Given the description of an element on the screen output the (x, y) to click on. 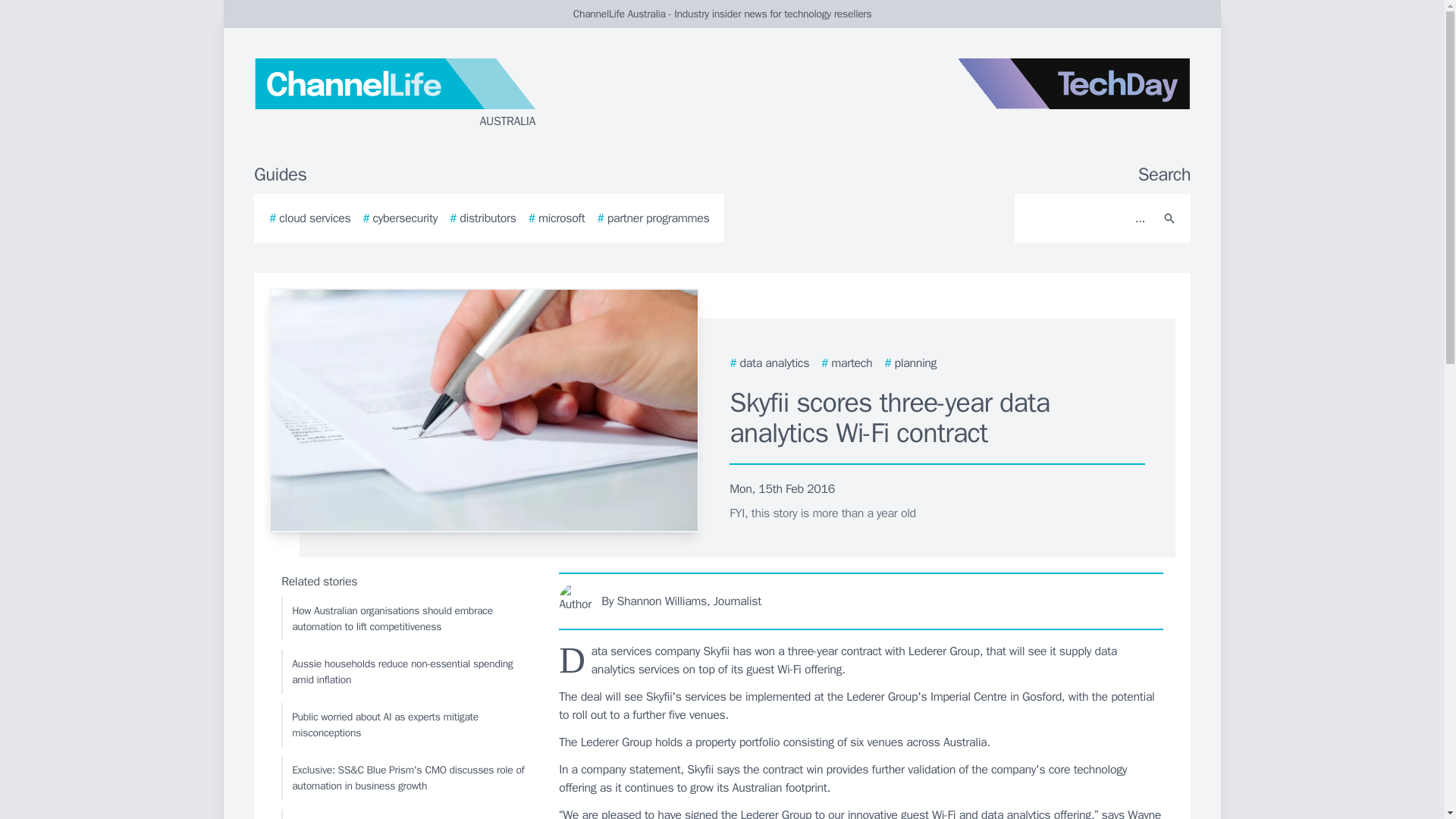
Public worried about AI as experts mitigate misconceptions (406, 724)
AUSTRALIA (435, 94)
By Shannon Williams, Journalist (861, 601)
